Given the description of an element on the screen output the (x, y) to click on. 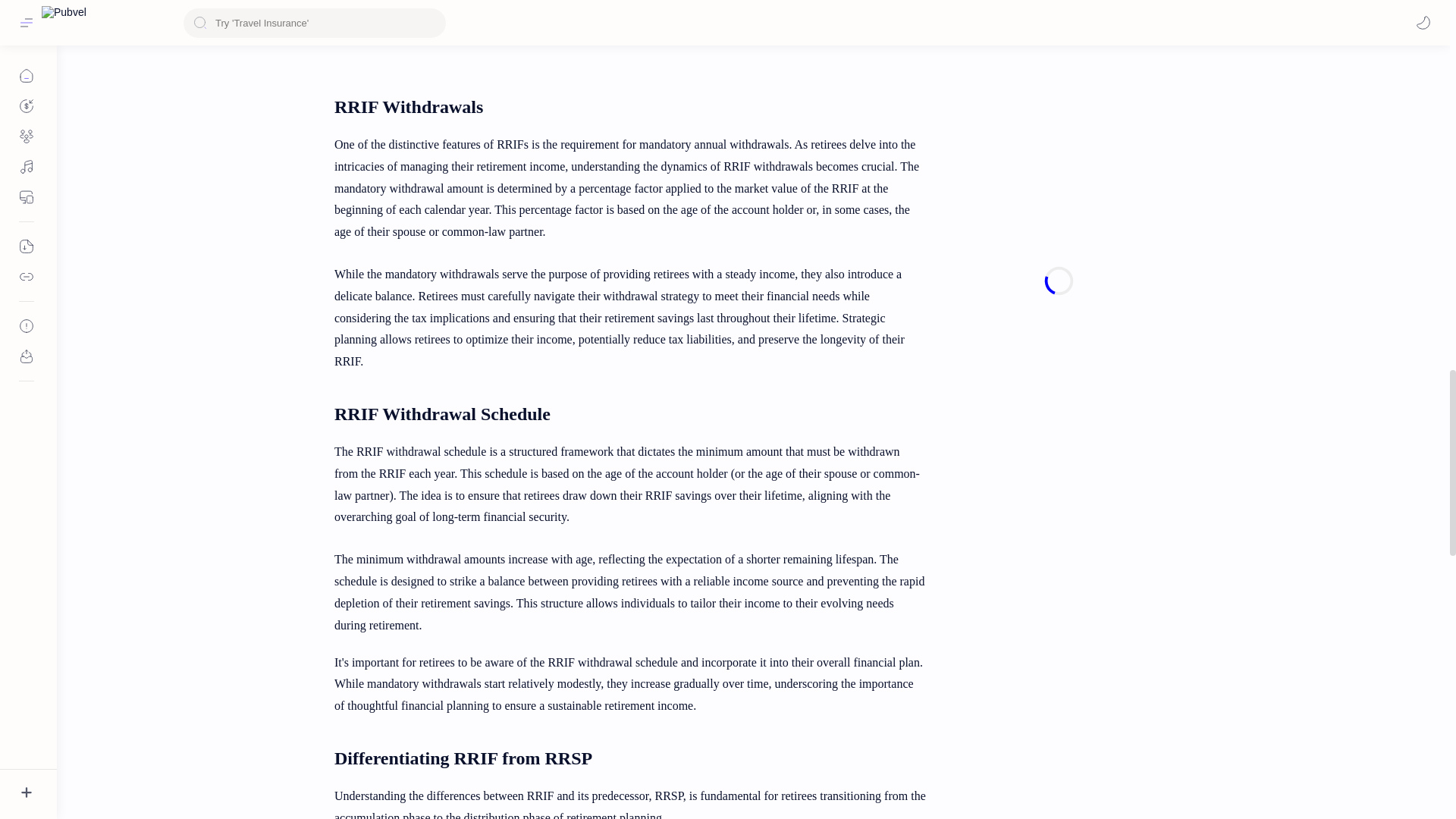
Advertisement (629, 27)
Advertisement (1058, 4)
